Given the description of an element on the screen output the (x, y) to click on. 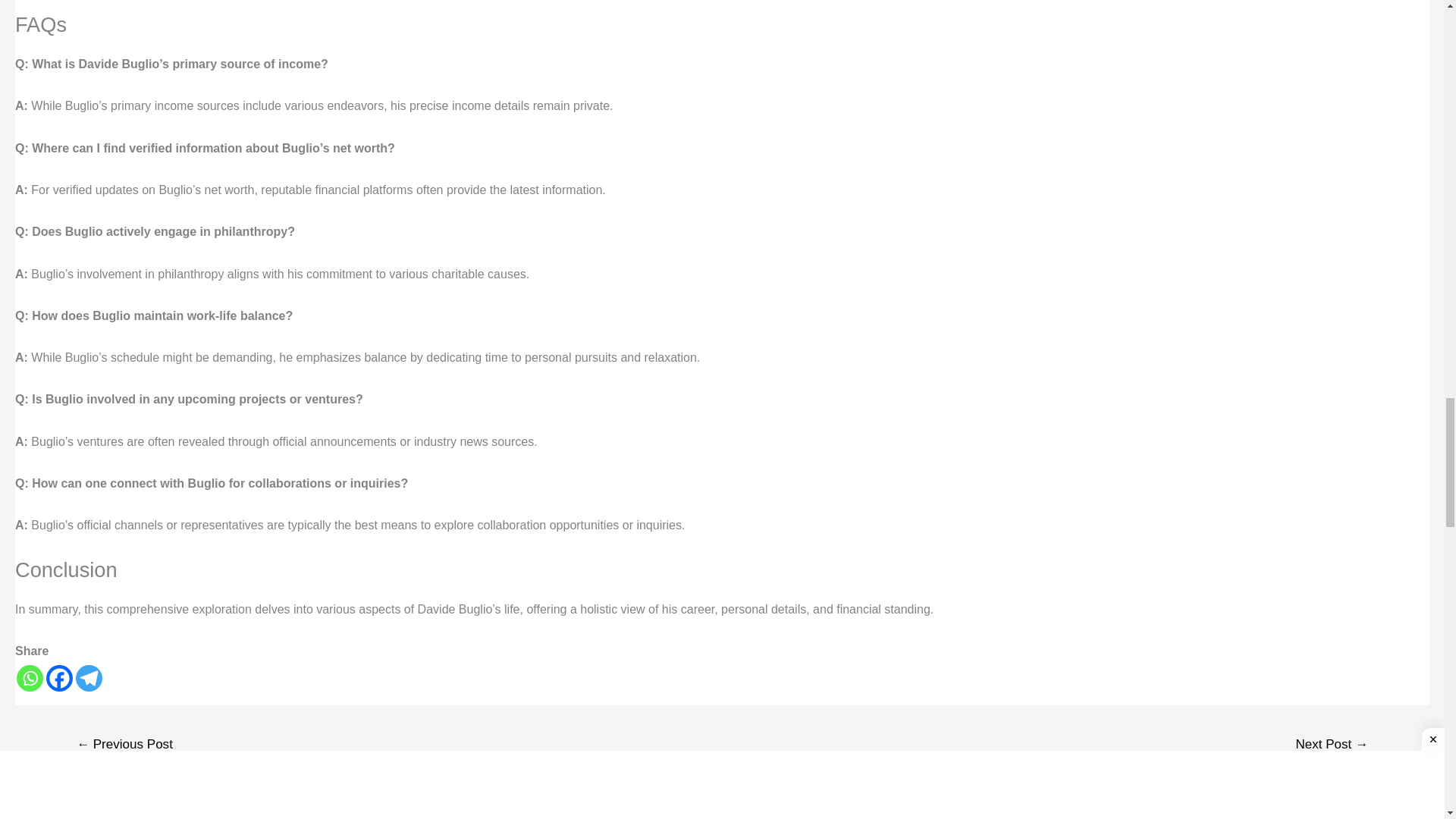
Whatsapp (29, 678)
Facebook (59, 678)
Telegram (88, 678)
